Given the description of an element on the screen output the (x, y) to click on. 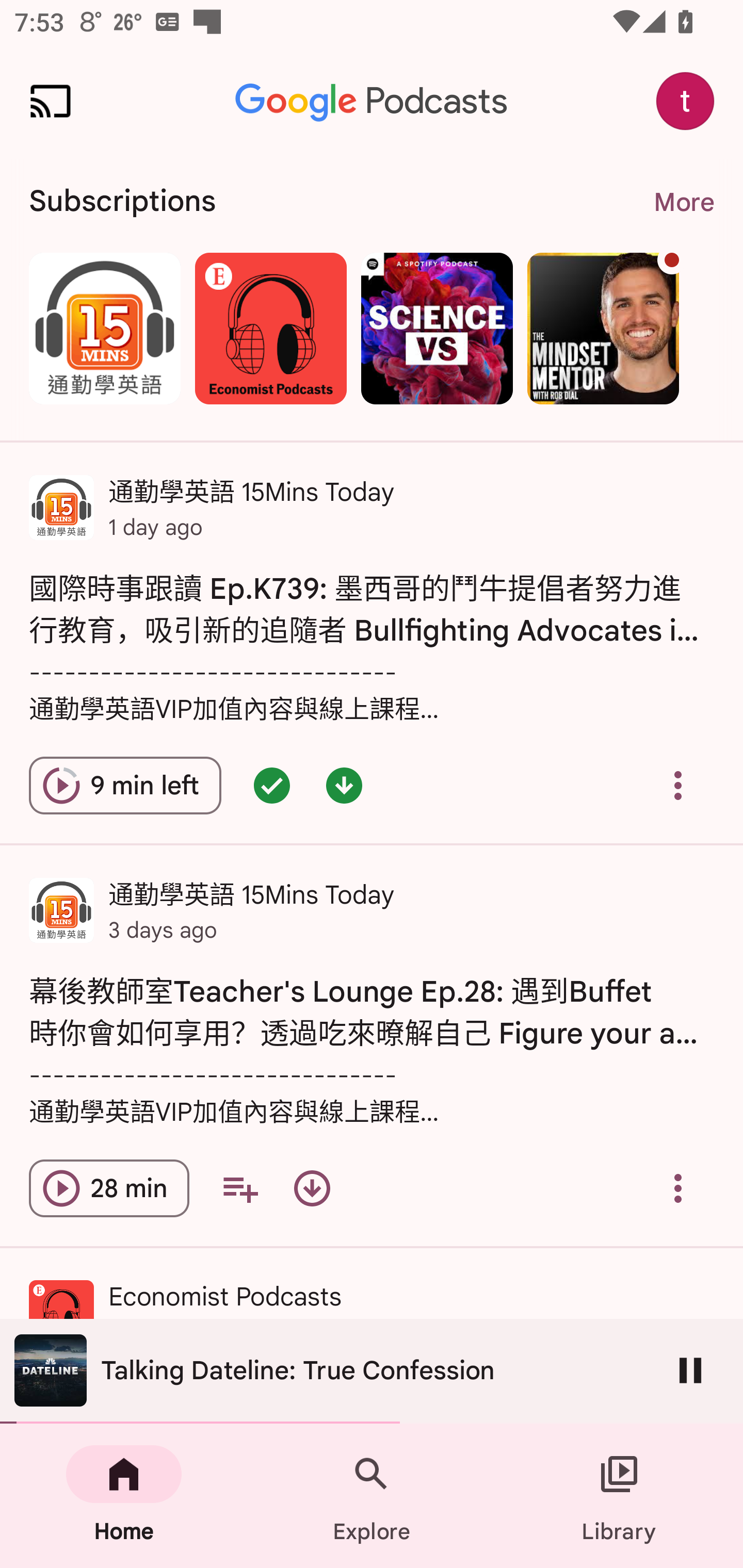
Cast. Disconnected (50, 101)
More More. Navigate to subscriptions page. (683, 202)
通勤學英語 15Mins Today (104, 328)
Economist Podcasts (270, 328)
Science Vs (436, 328)
The Mindset Mentor (603, 328)
Episode queued - double tap for options (271, 785)
Episode downloaded - double tap for options (344, 785)
Overflow menu (677, 785)
Add to your queue (239, 1188)
Download episode (312, 1188)
Overflow menu (677, 1188)
Pause (690, 1370)
Explore (371, 1495)
Library (619, 1495)
